Given the description of an element on the screen output the (x, y) to click on. 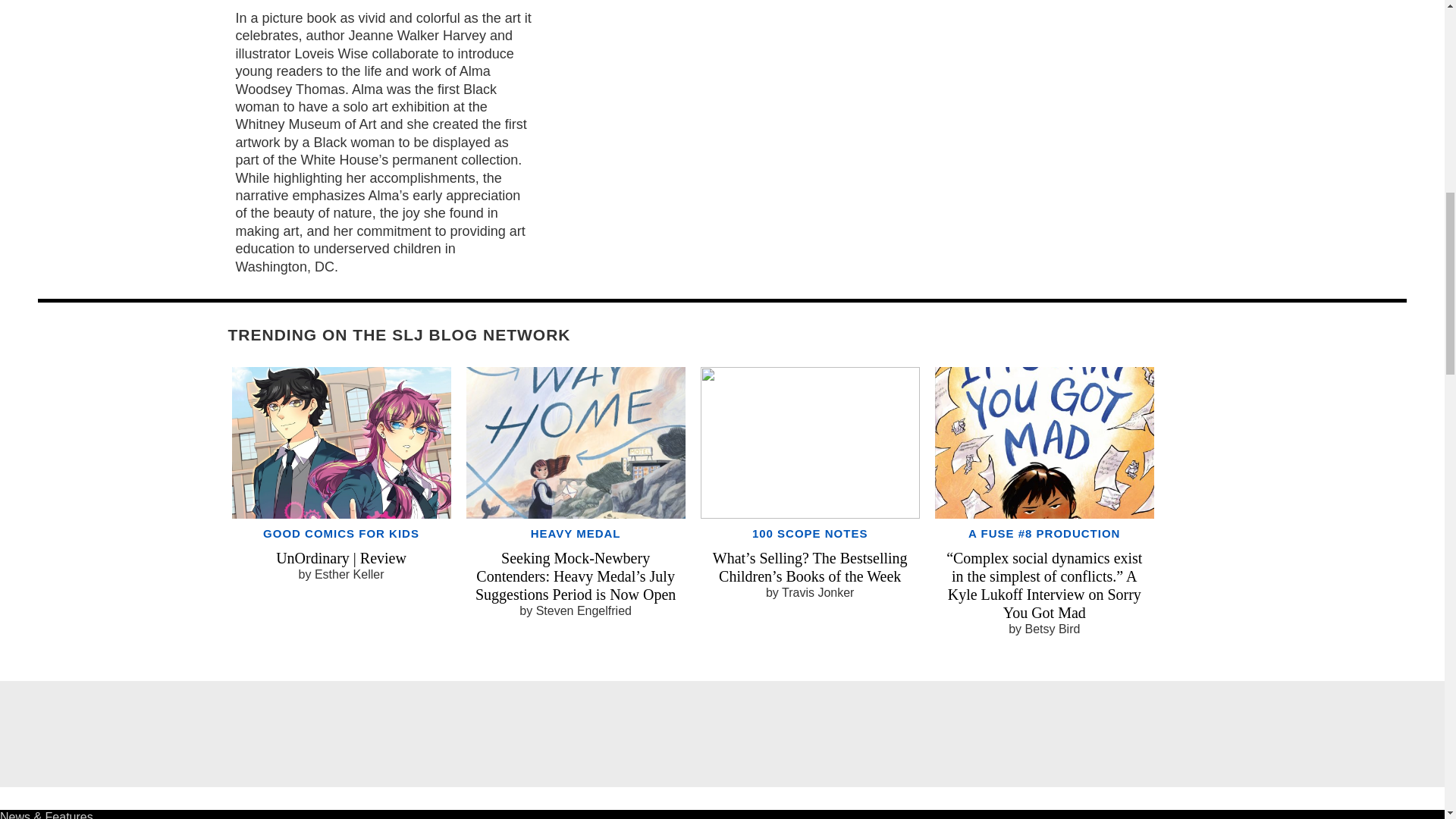
3rd party ad content (721, 734)
